Given the description of an element on the screen output the (x, y) to click on. 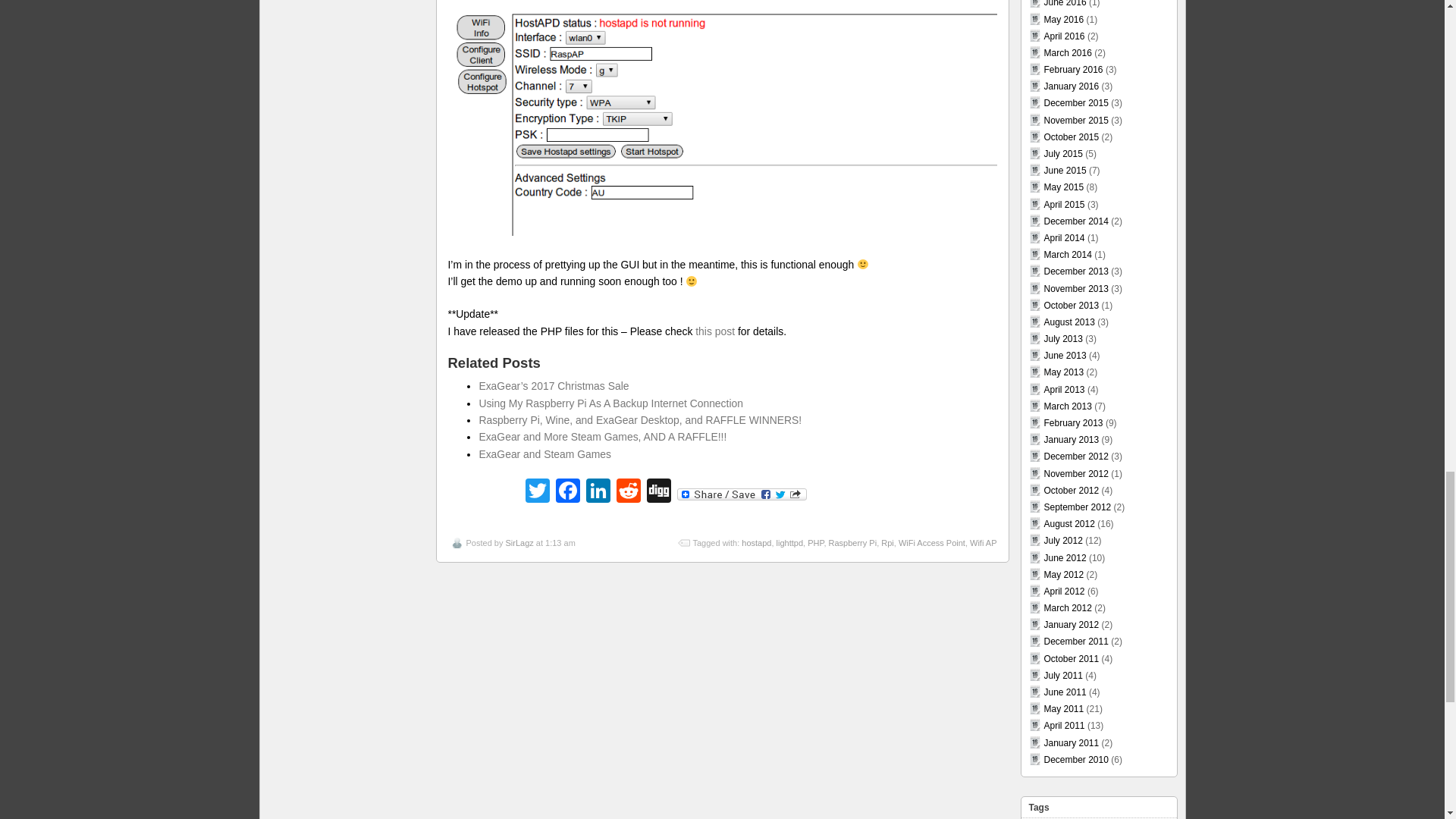
Digg (657, 492)
Twitter (536, 492)
this post (715, 331)
ExaGear and More Steam Games, AND A RAFFLE!!! (602, 436)
lighttpd (789, 542)
Using My Raspberry Pi As A Backup Internet Connection (610, 403)
LinkedIn (597, 492)
ExaGear and More Steam Games, AND A RAFFLE!!! (602, 436)
Reddit (627, 492)
ExaGear and Steam Games (545, 453)
Reddit (627, 492)
Facebook (566, 492)
LinkedIn (597, 492)
Digg (657, 492)
PHP (816, 542)
